Given the description of an element on the screen output the (x, y) to click on. 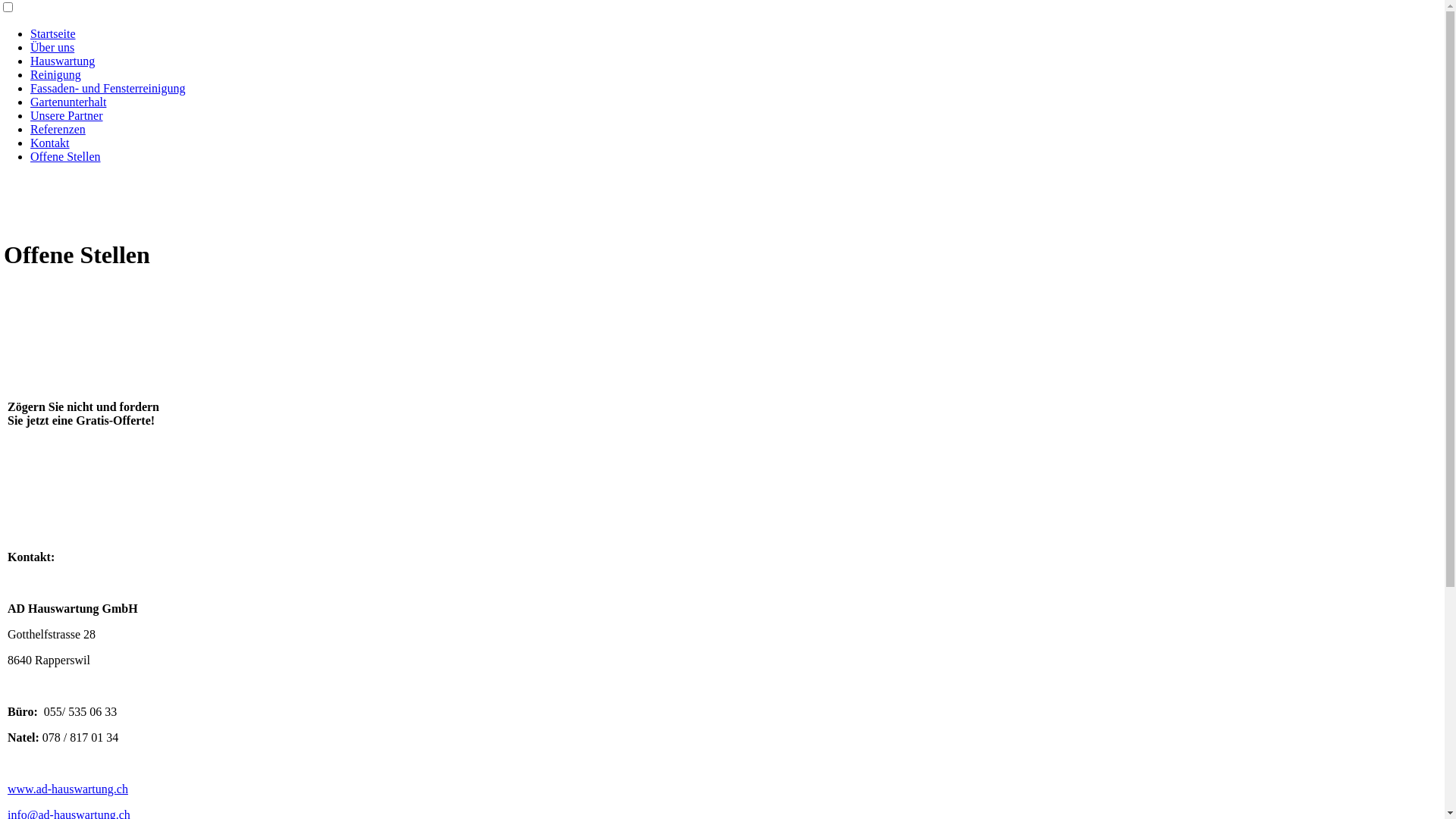
Reinigung Element type: text (55, 74)
Startseite Element type: text (52, 33)
Offene Stellen Element type: text (65, 156)
Referenzen Element type: text (57, 128)
Gartenunterhalt Element type: text (68, 101)
Hauswartung Element type: text (62, 60)
www.ad-hauswartung.ch Element type: text (67, 788)
Unsere Partner Element type: text (66, 115)
Fassaden- und Fensterreinigung Element type: text (107, 87)
Kontakt Element type: text (49, 142)
